Given the description of an element on the screen output the (x, y) to click on. 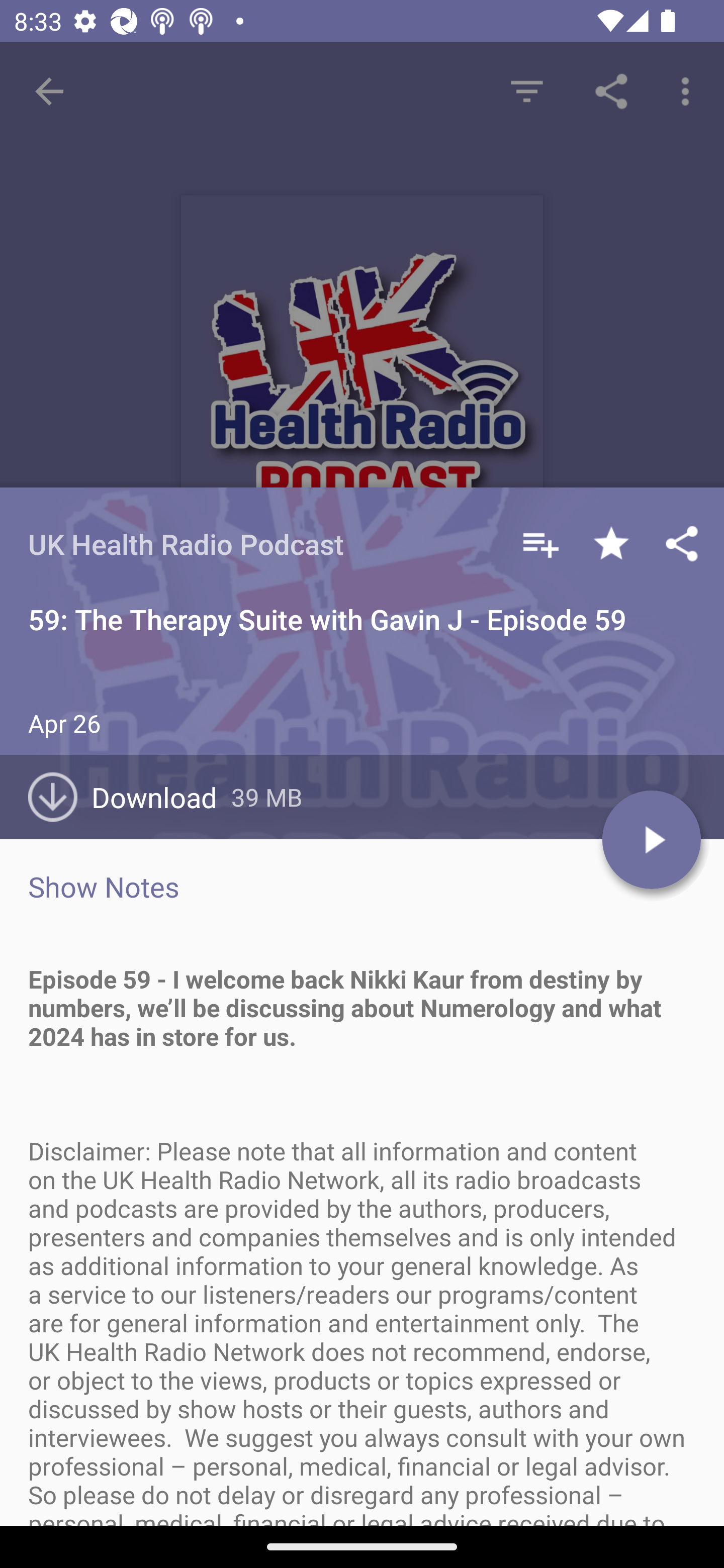
Navigate up (49, 91)
Hide Episodes (526, 90)
Share Link (611, 90)
More options (688, 90)
Download (129, 797)
